Given the description of an element on the screen output the (x, y) to click on. 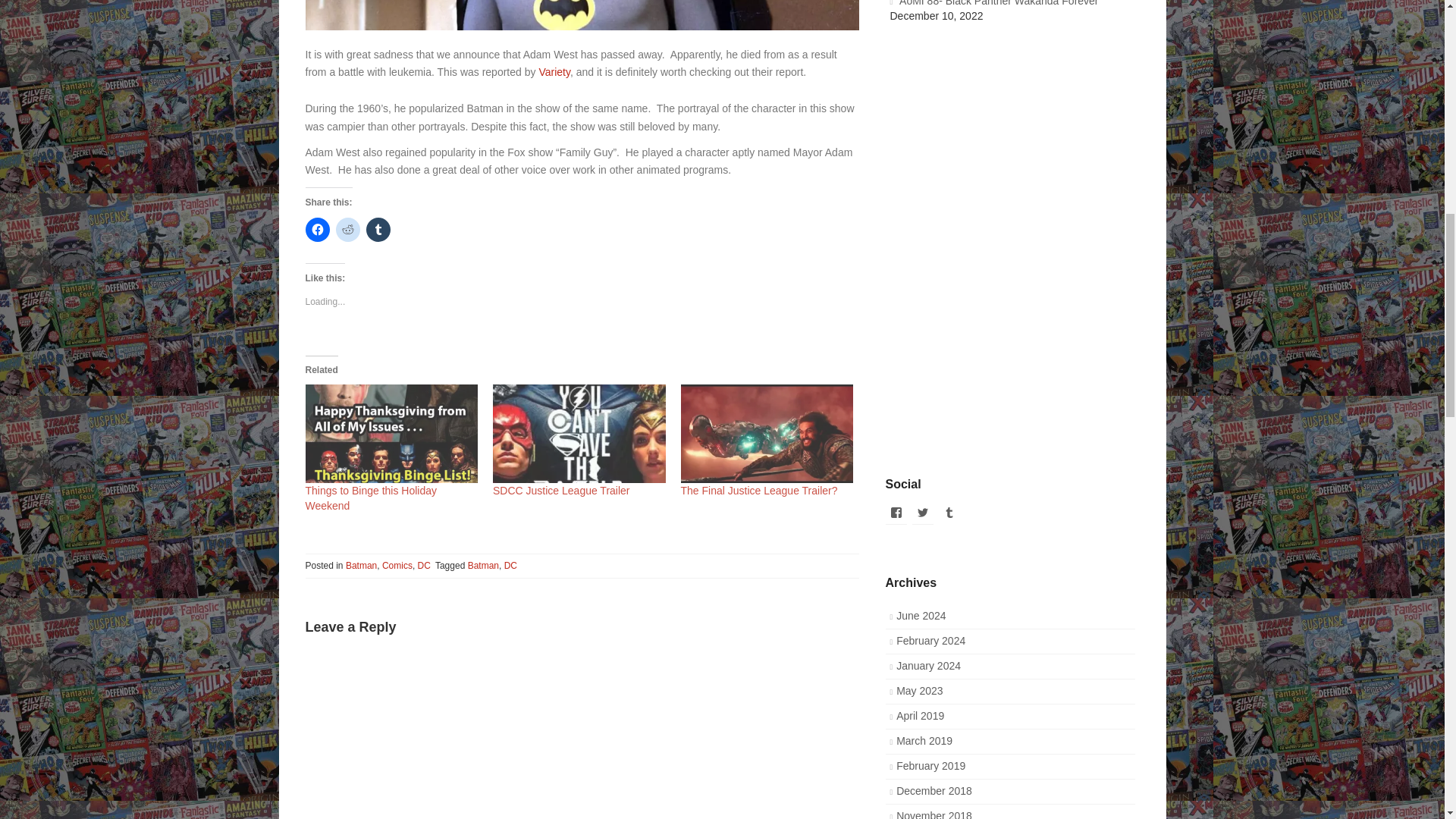
Click to share on Reddit (346, 229)
Click to share on Facebook (316, 229)
SDCC Justice League Trailer (561, 490)
Things to Binge this Holiday Weekend (370, 497)
The Final Justice League Trailer? (759, 490)
Things to Binge this Holiday Weekend (390, 433)
SDCC Justice League Trailer (579, 433)
Variety (554, 71)
The Final Justice League Trailer? (767, 433)
Click to share on Tumblr (377, 229)
